Given the description of an element on the screen output the (x, y) to click on. 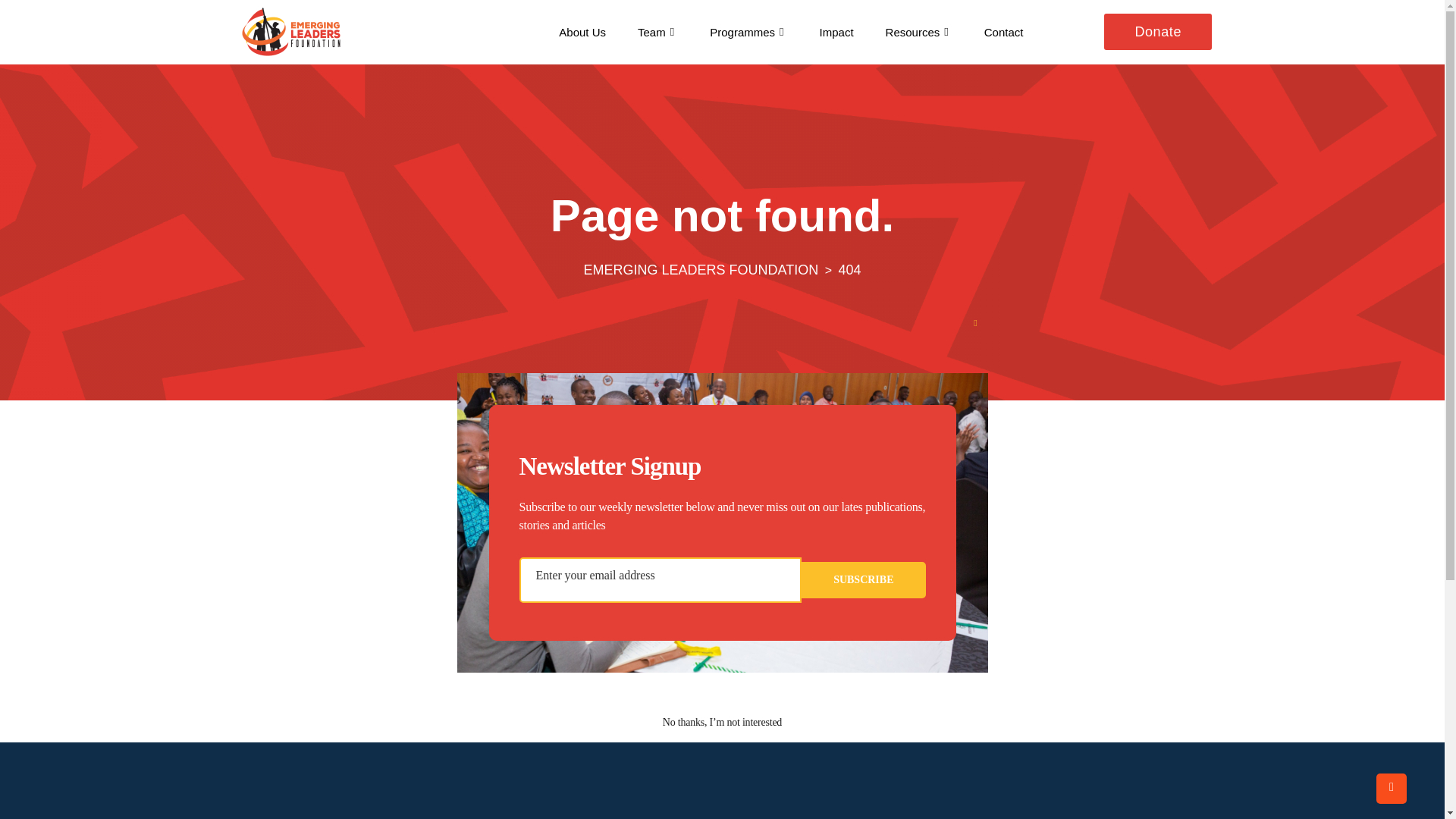
Go to EMERGING LEADERS FOUNDATION. (701, 270)
Team (657, 31)
Programmes (748, 31)
Go to 404. (848, 270)
About Us (582, 31)
Resources (918, 31)
Donate (1157, 31)
GO BACK (722, 624)
404 (848, 270)
Contact (1003, 31)
